Given the description of an element on the screen output the (x, y) to click on. 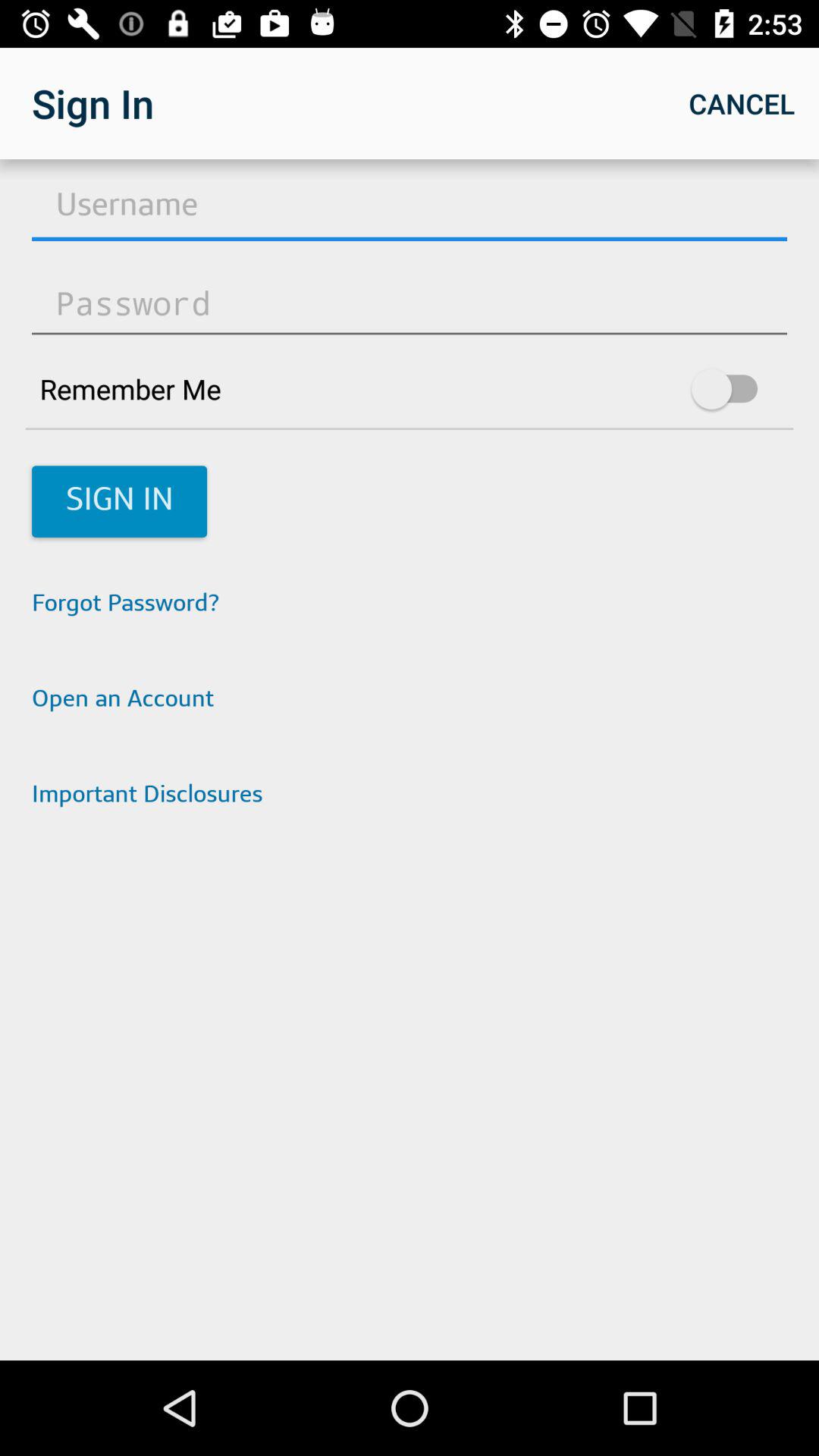
turn off the icon to the right of sign in app (741, 103)
